Given the description of an element on the screen output the (x, y) to click on. 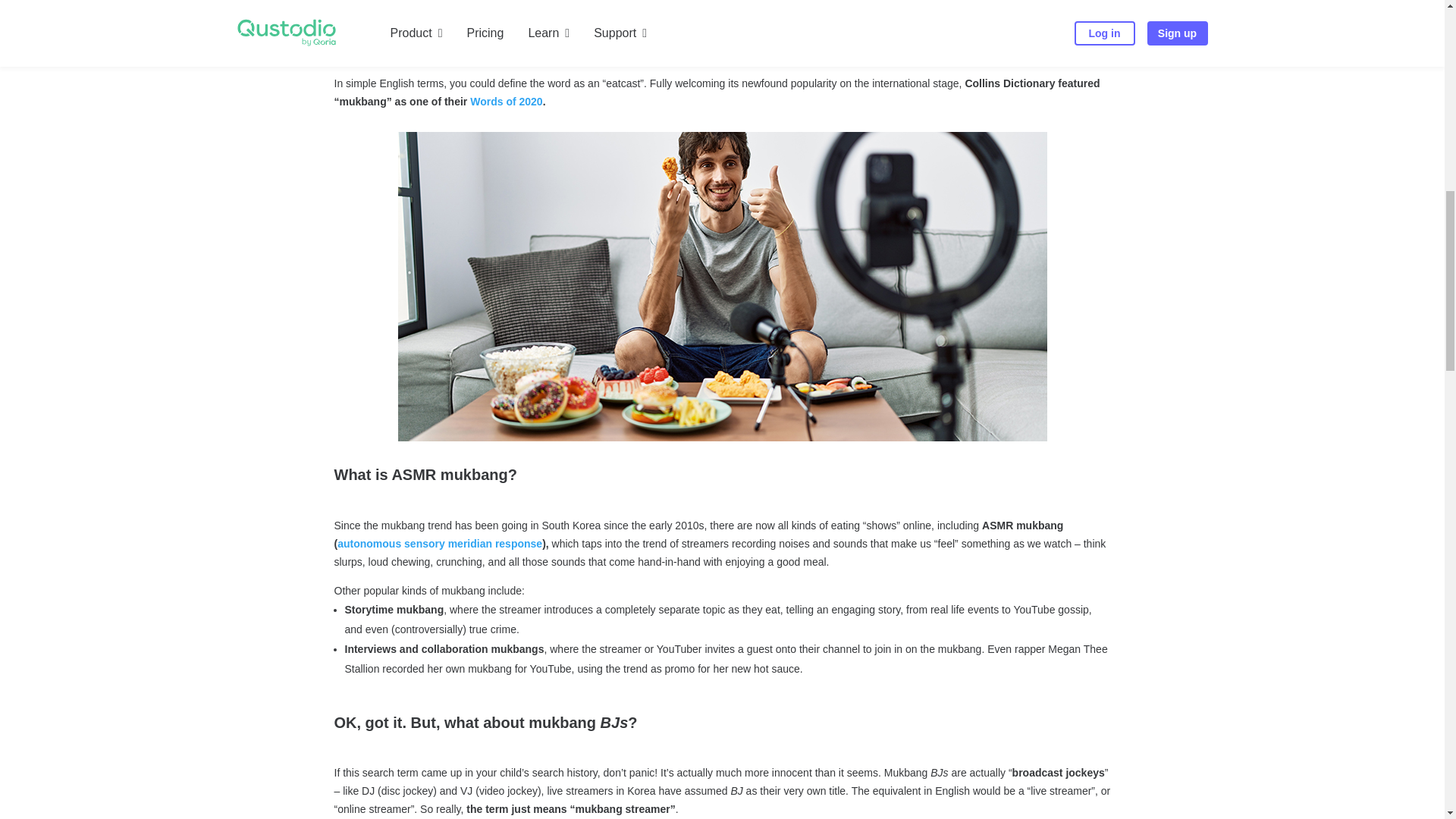
Words of 2020 (505, 101)
autonomous sensory meridian response (439, 543)
